Given the description of an element on the screen output the (x, y) to click on. 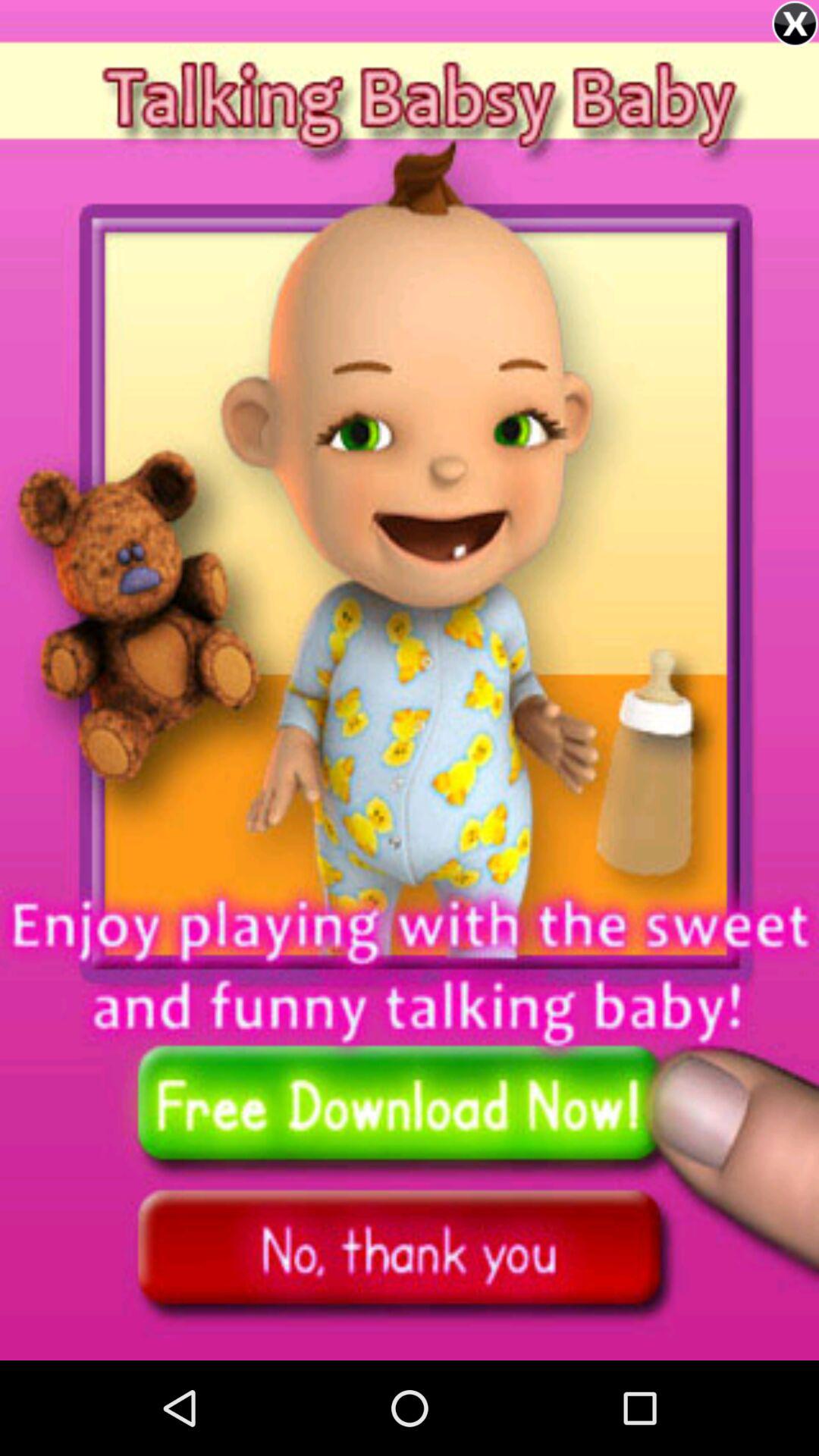
close option (795, 23)
